Given the description of an element on the screen output the (x, y) to click on. 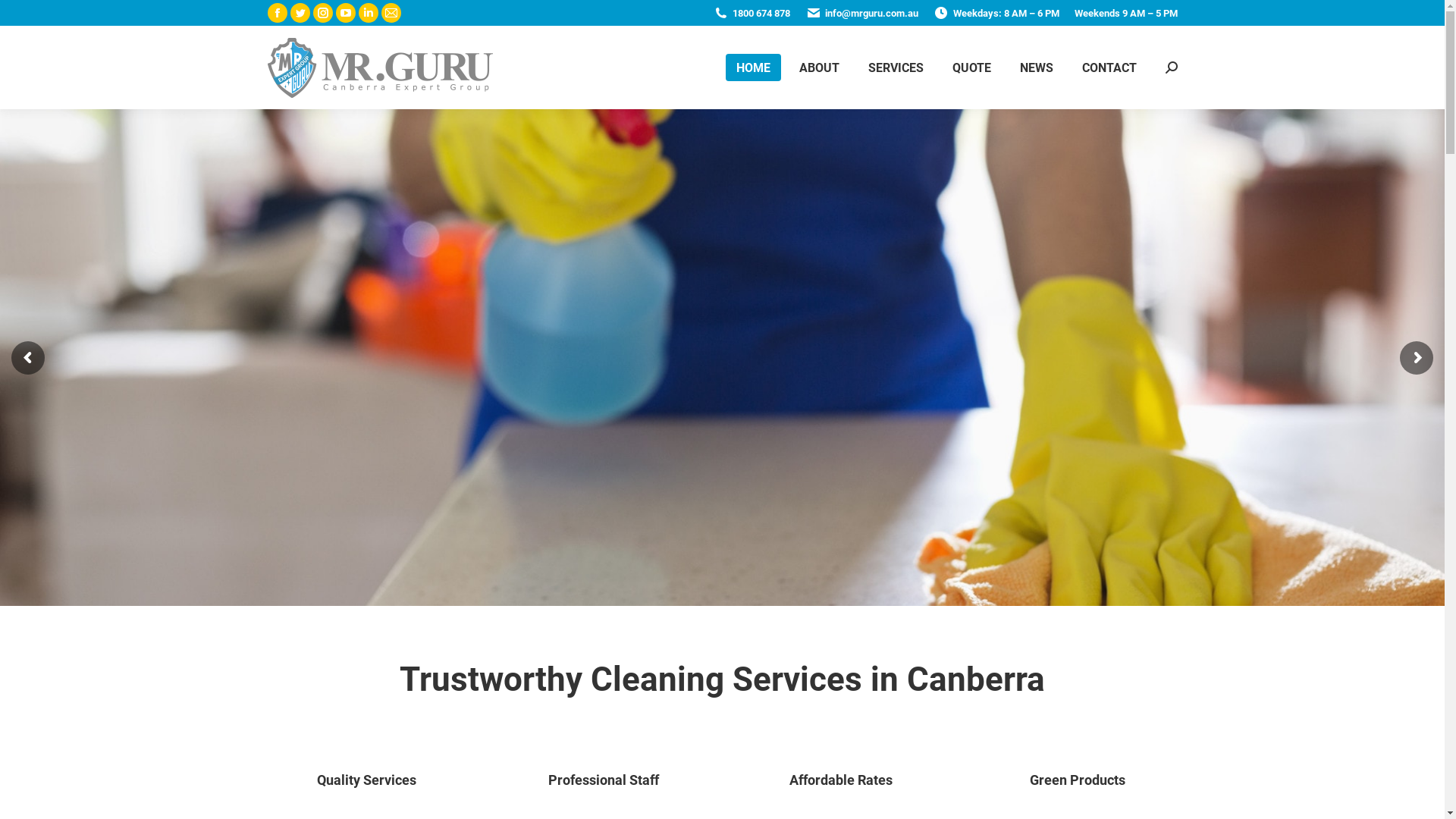
SERVICES Element type: text (894, 67)
CONTACT Element type: text (1108, 67)
Mail page opens in new window Element type: text (390, 12)
Instagram page opens in new window Element type: text (322, 12)
HOME Element type: text (752, 67)
QUOTE Element type: text (971, 67)
NEWS Element type: text (1035, 67)
YouTube page opens in new window Element type: text (344, 12)
Go! Element type: text (23, 16)
Facebook page opens in new window Element type: text (276, 12)
ABOUT Element type: text (819, 67)
Twitter page opens in new window Element type: text (299, 12)
Linkedin page opens in new window Element type: text (367, 12)
